Given the description of an element on the screen output the (x, y) to click on. 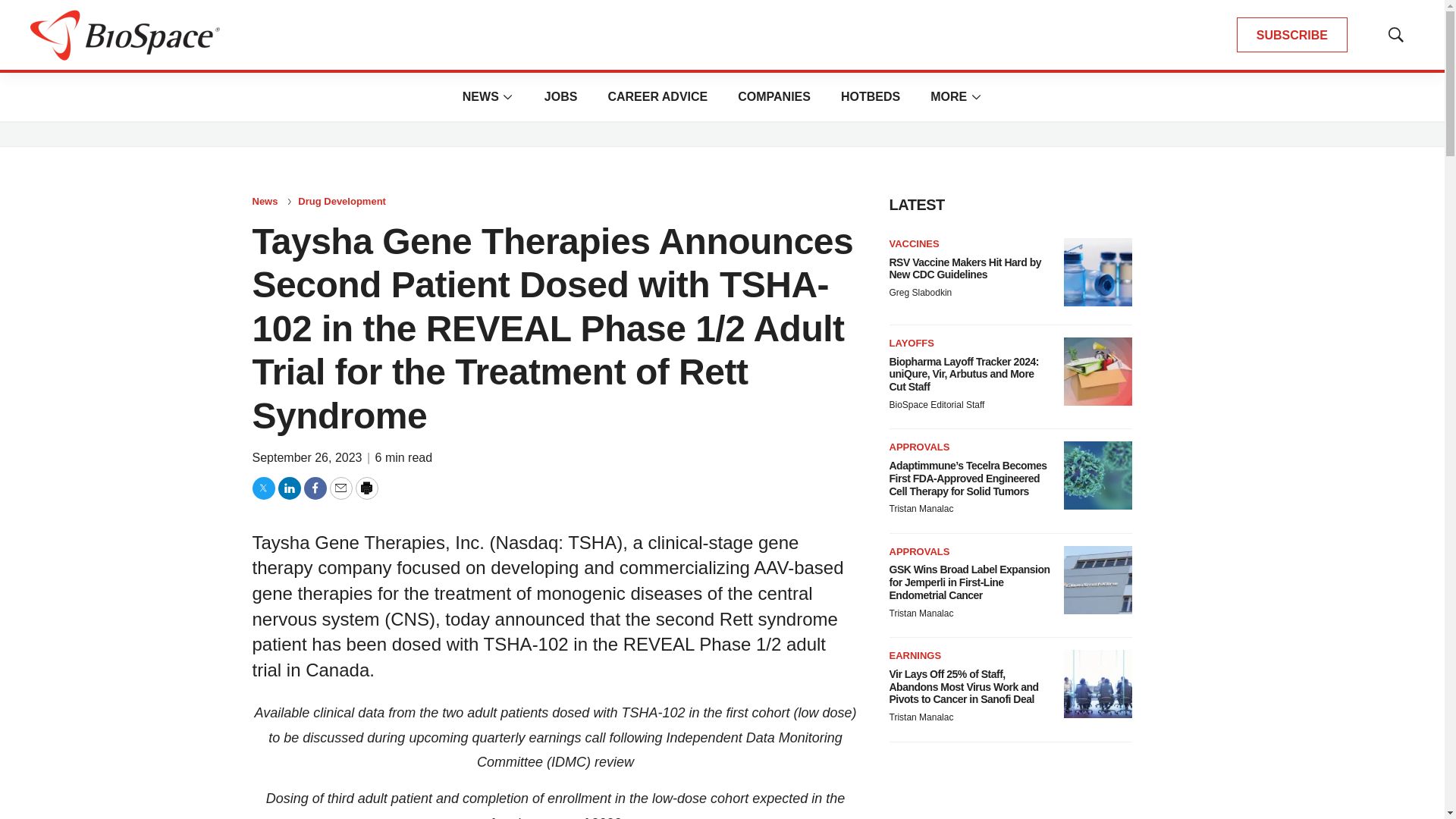
NEWS (481, 96)
Show Search (1395, 34)
SUBSCRIBE (1292, 34)
